Given the description of an element on the screen output the (x, y) to click on. 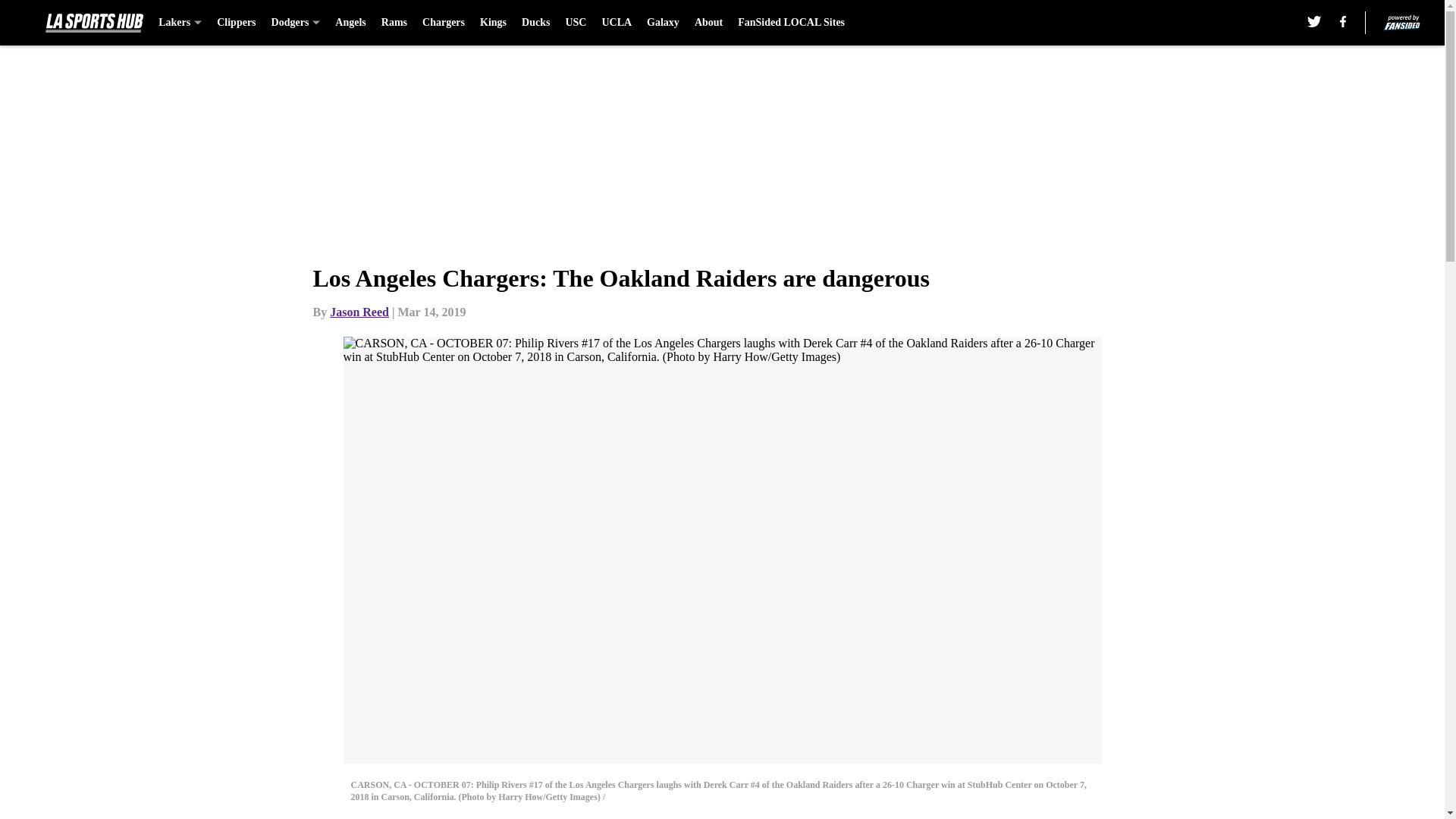
Chargers (443, 22)
About (708, 22)
Rams (394, 22)
FanSided LOCAL Sites (791, 22)
Galaxy (662, 22)
Angels (349, 22)
USC (575, 22)
Clippers (236, 22)
UCLA (616, 22)
Kings (493, 22)
Jason Reed (359, 311)
Ducks (535, 22)
